Given the description of an element on the screen output the (x, y) to click on. 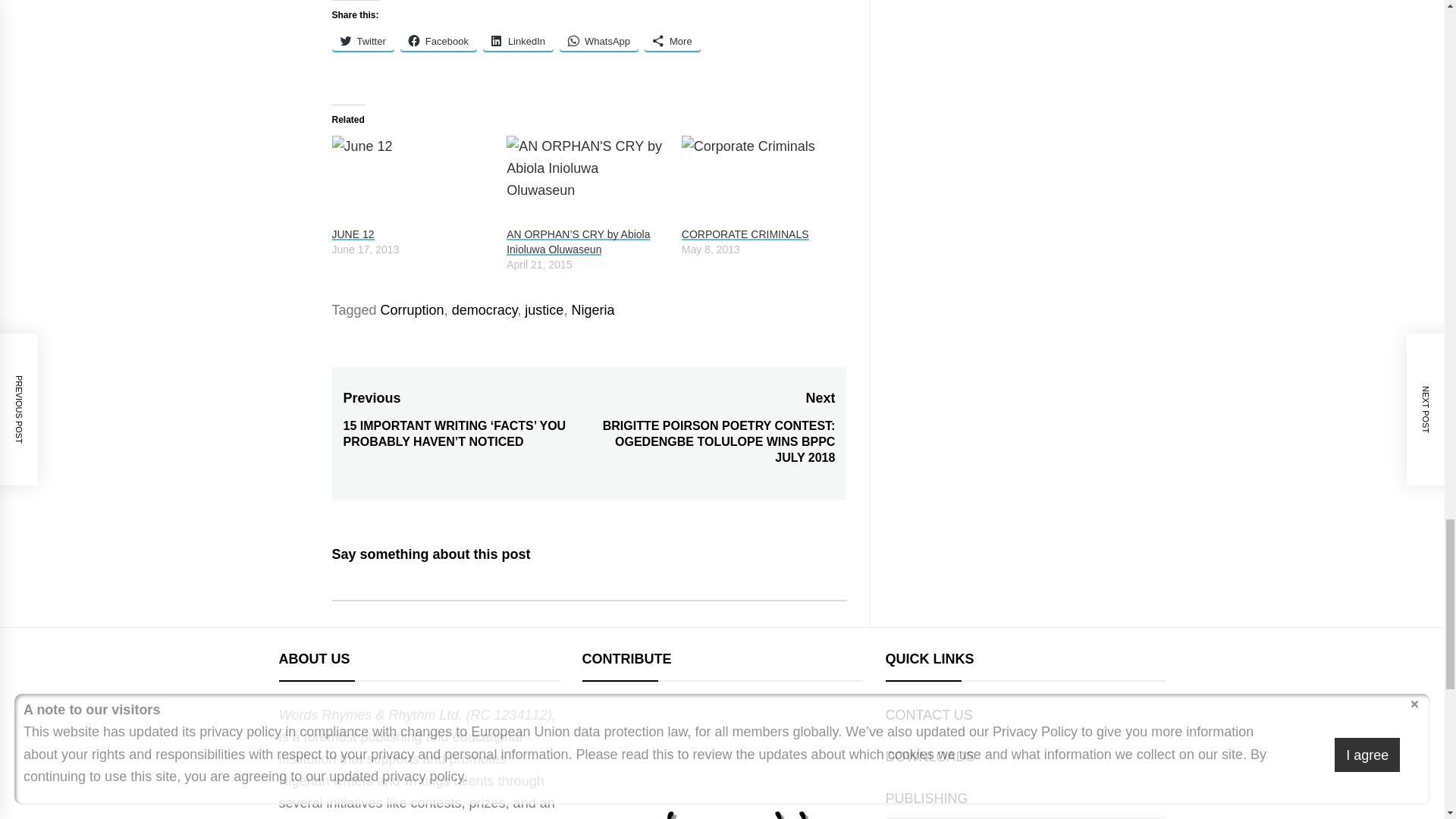
Click to share on LinkedIn (518, 40)
Click to share on Twitter (362, 40)
JUNE 12 (411, 180)
Click to share on Facebook (438, 40)
Click to share on WhatsApp (599, 40)
